Given the description of an element on the screen output the (x, y) to click on. 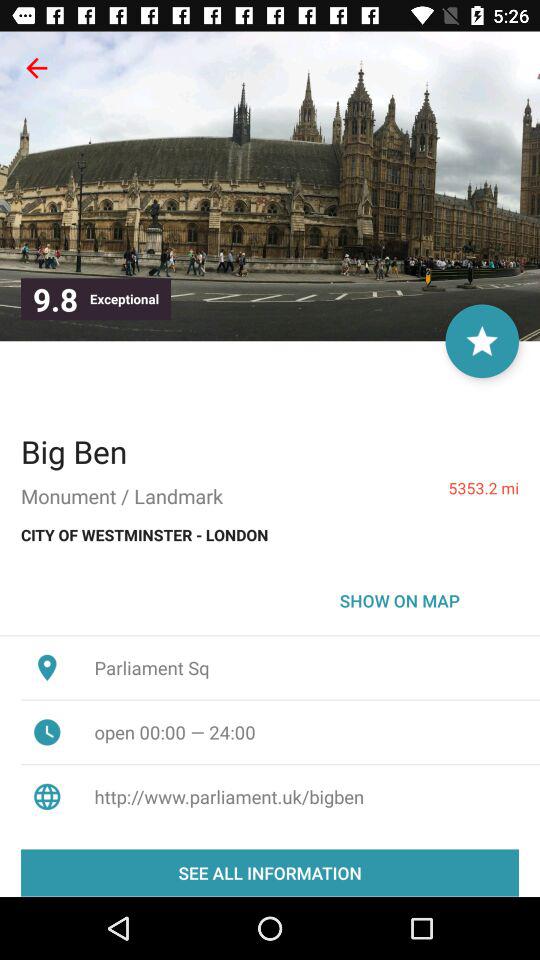
scroll until the see all information item (270, 872)
